Given the description of an element on the screen output the (x, y) to click on. 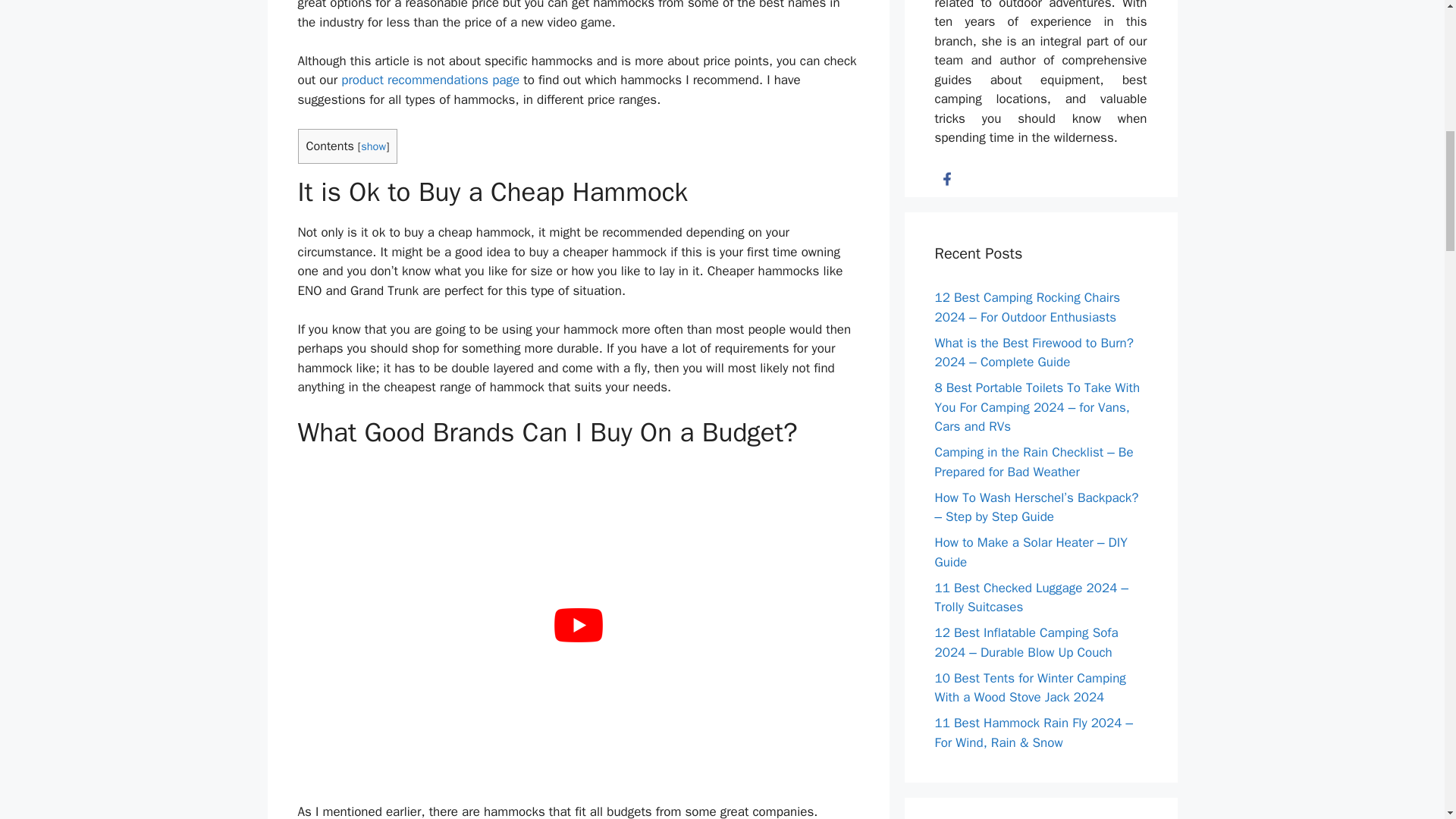
product recommendations page (429, 79)
show (373, 146)
